Given the description of an element on the screen output the (x, y) to click on. 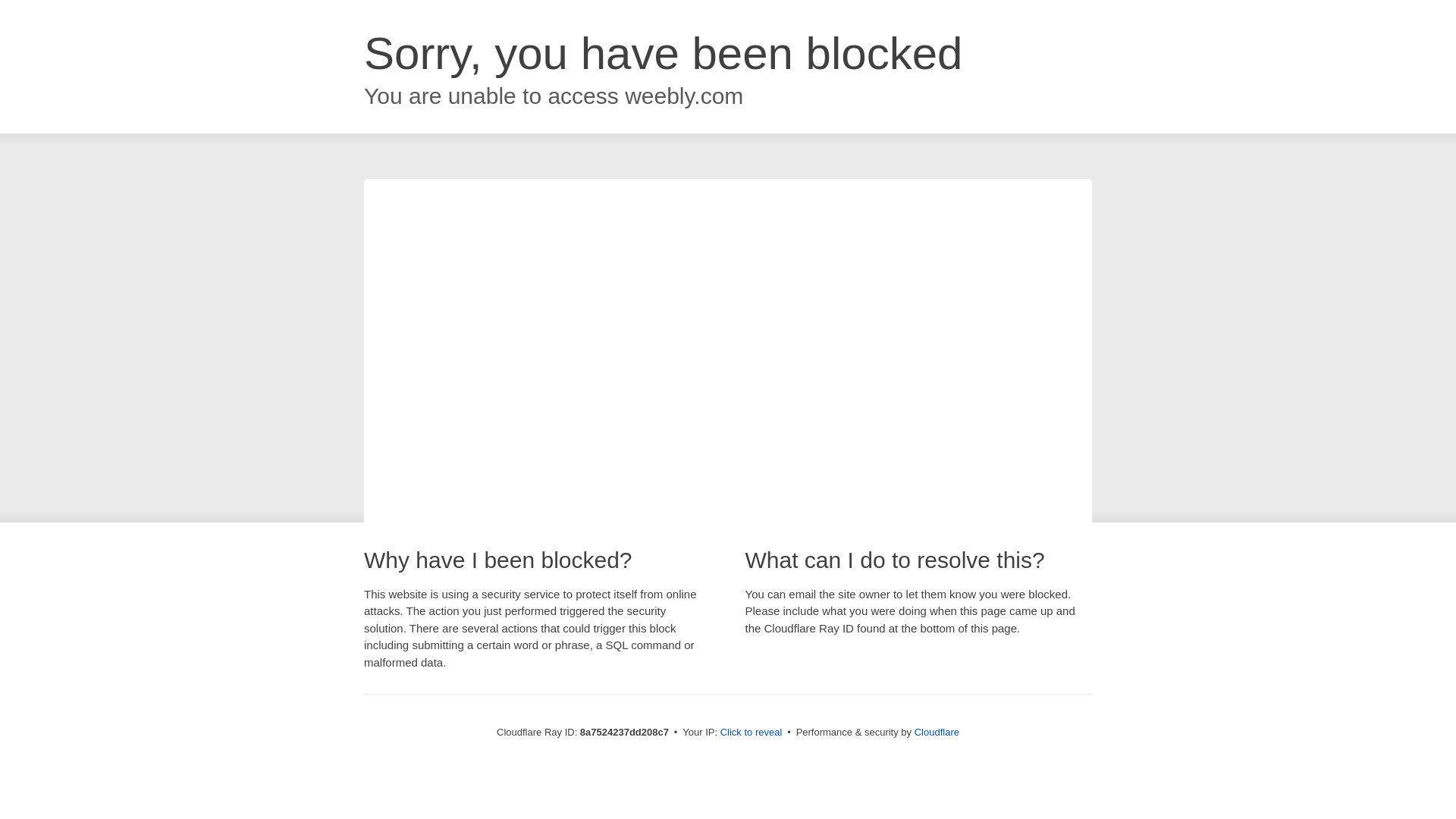
Cloudflare (936, 731)
Click to reveal (751, 732)
